Given the description of an element on the screen output the (x, y) to click on. 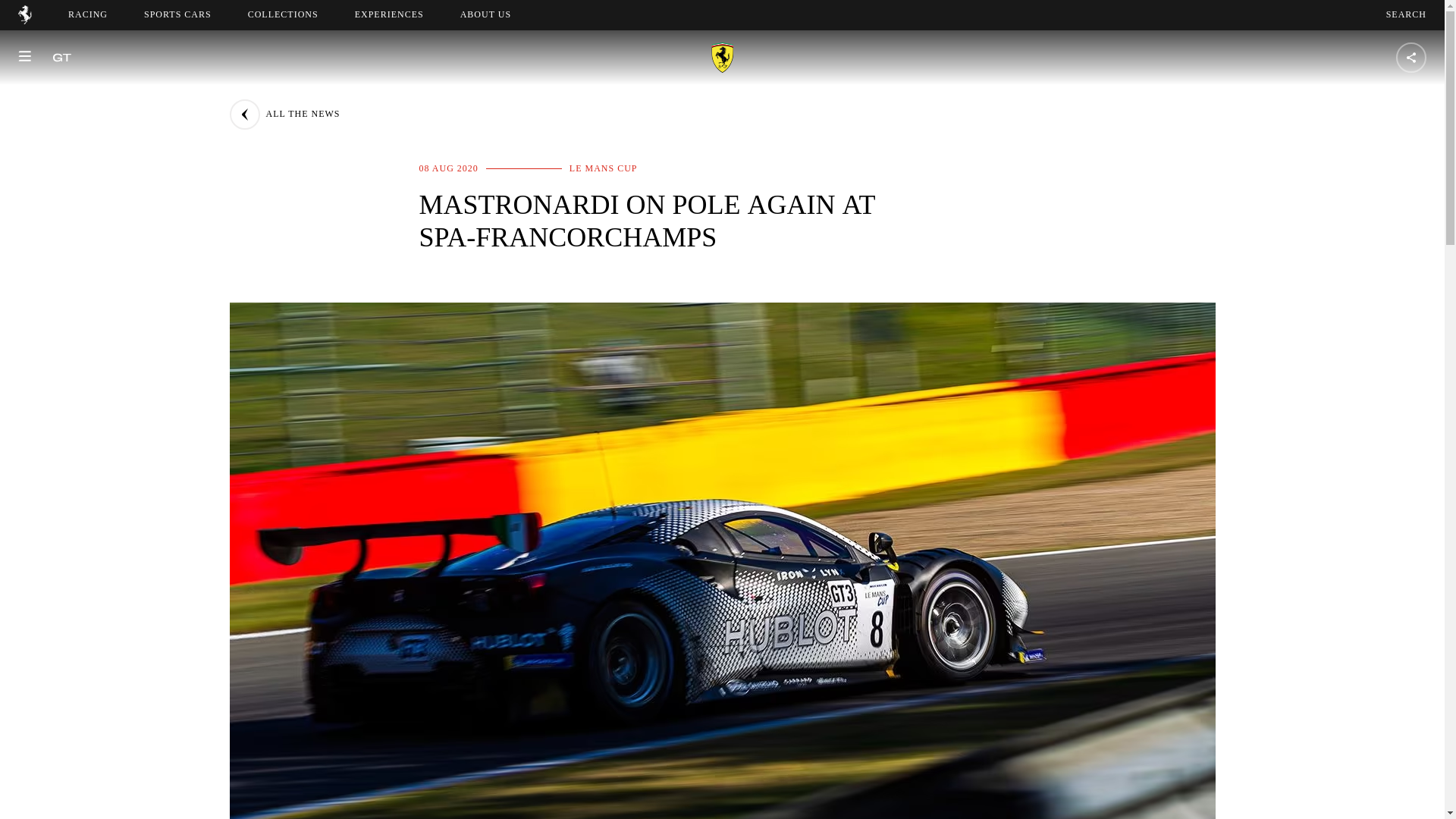
EXPERIENCES (389, 14)
SEARCH (499, 14)
ALL THE NEWS (1406, 14)
SPORTS CARS (283, 114)
COLLECTIONS (177, 14)
RACING (282, 14)
ABOUT US (87, 14)
Spa-Francorchamps - Ferrari 488GT3 EVO 2020 (485, 14)
